Given the description of an element on the screen output the (x, y) to click on. 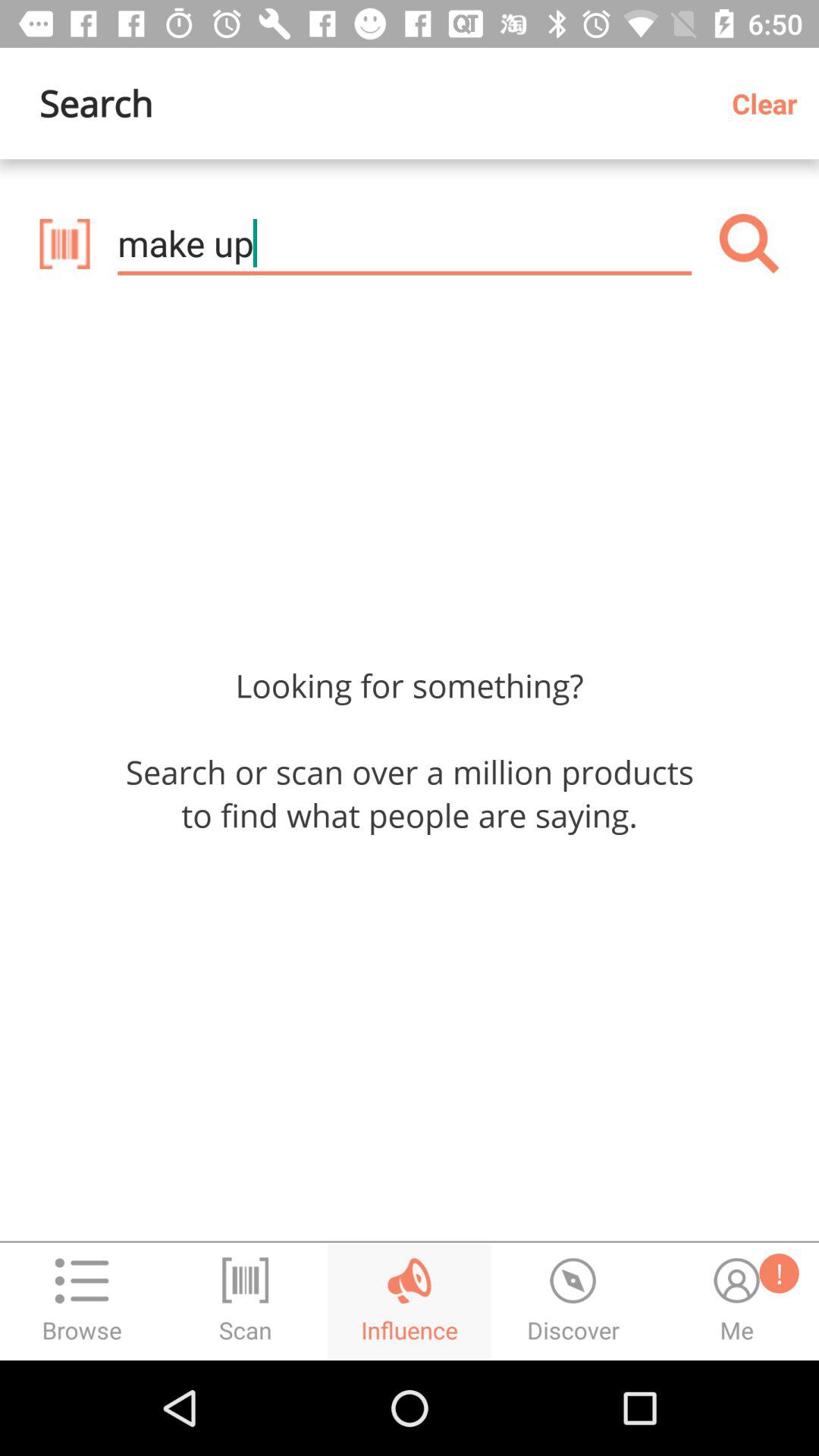
click the icon next to the make up (64, 243)
